Given the description of an element on the screen output the (x, y) to click on. 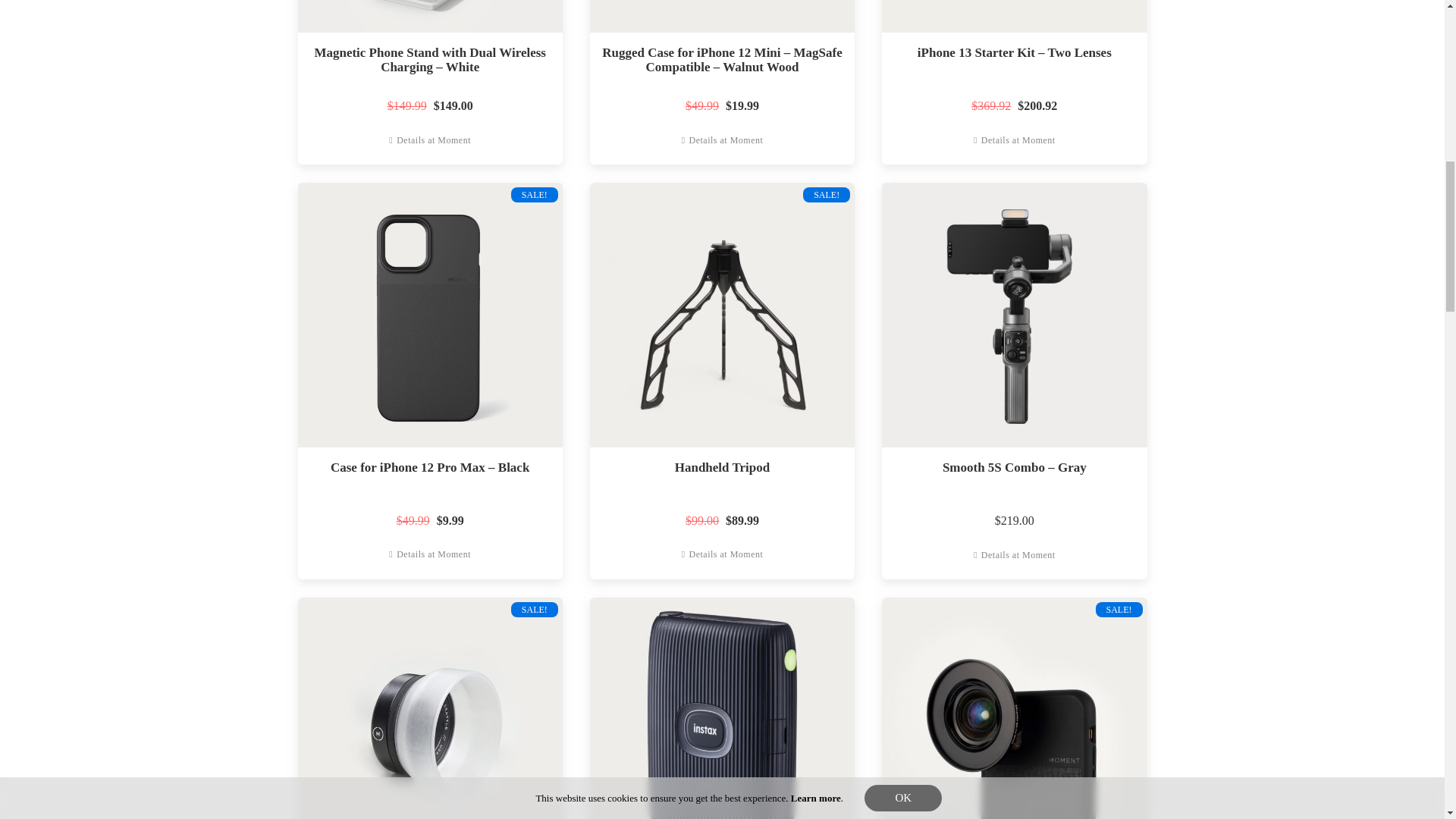
Details at Moment (722, 553)
Details at Moment (429, 140)
Details at Moment (1014, 140)
Details at Moment (429, 553)
Details at Moment (722, 140)
